Given the description of an element on the screen output the (x, y) to click on. 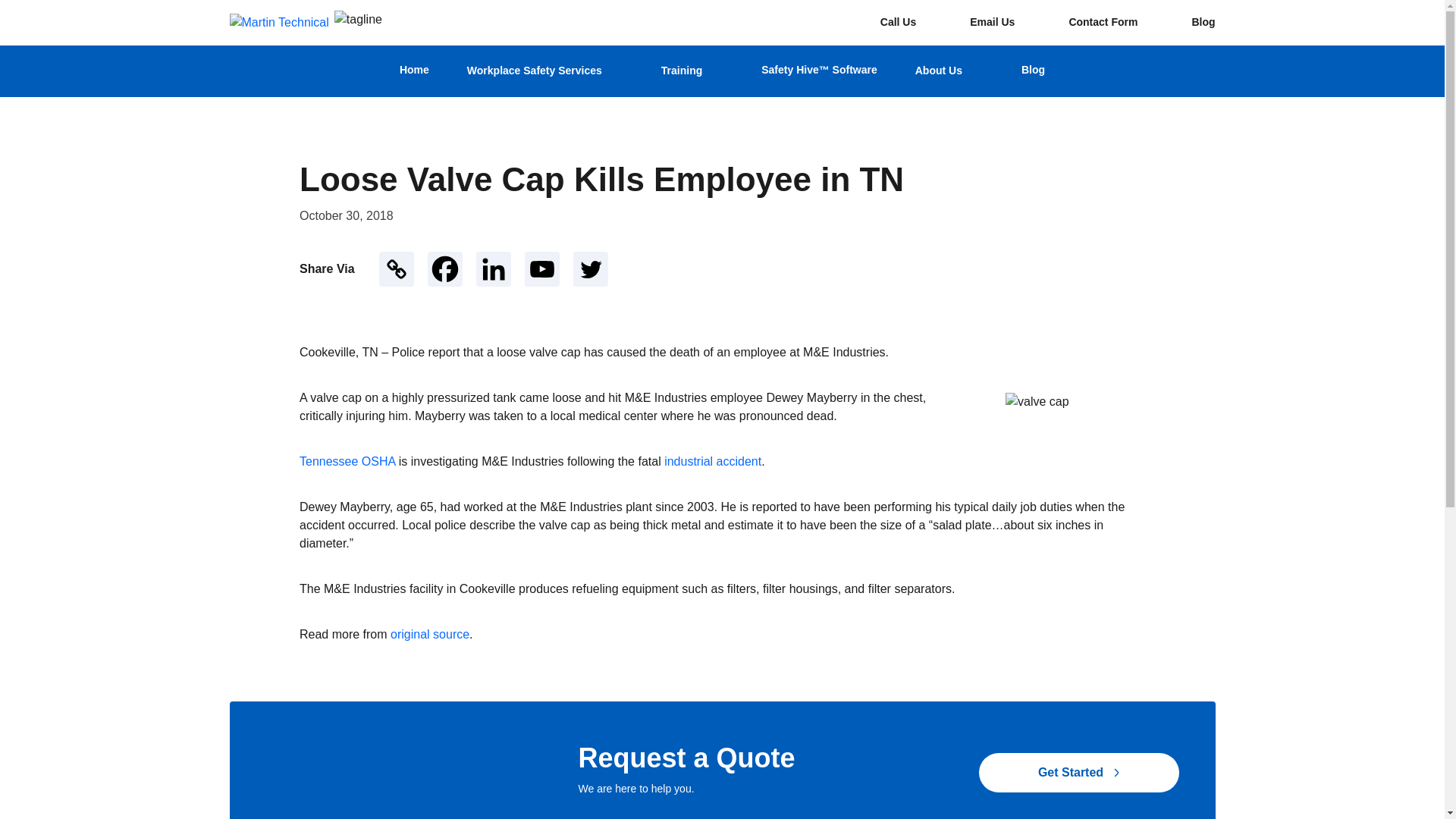
Contact Form (1091, 22)
Training (692, 71)
Workplace Safety Services (545, 71)
About Us (949, 71)
Call Us (886, 22)
Facebook (445, 268)
Martin Technical (278, 22)
Blog (1191, 22)
Linkedin (493, 268)
Copy Link (395, 268)
